Given the description of an element on the screen output the (x, y) to click on. 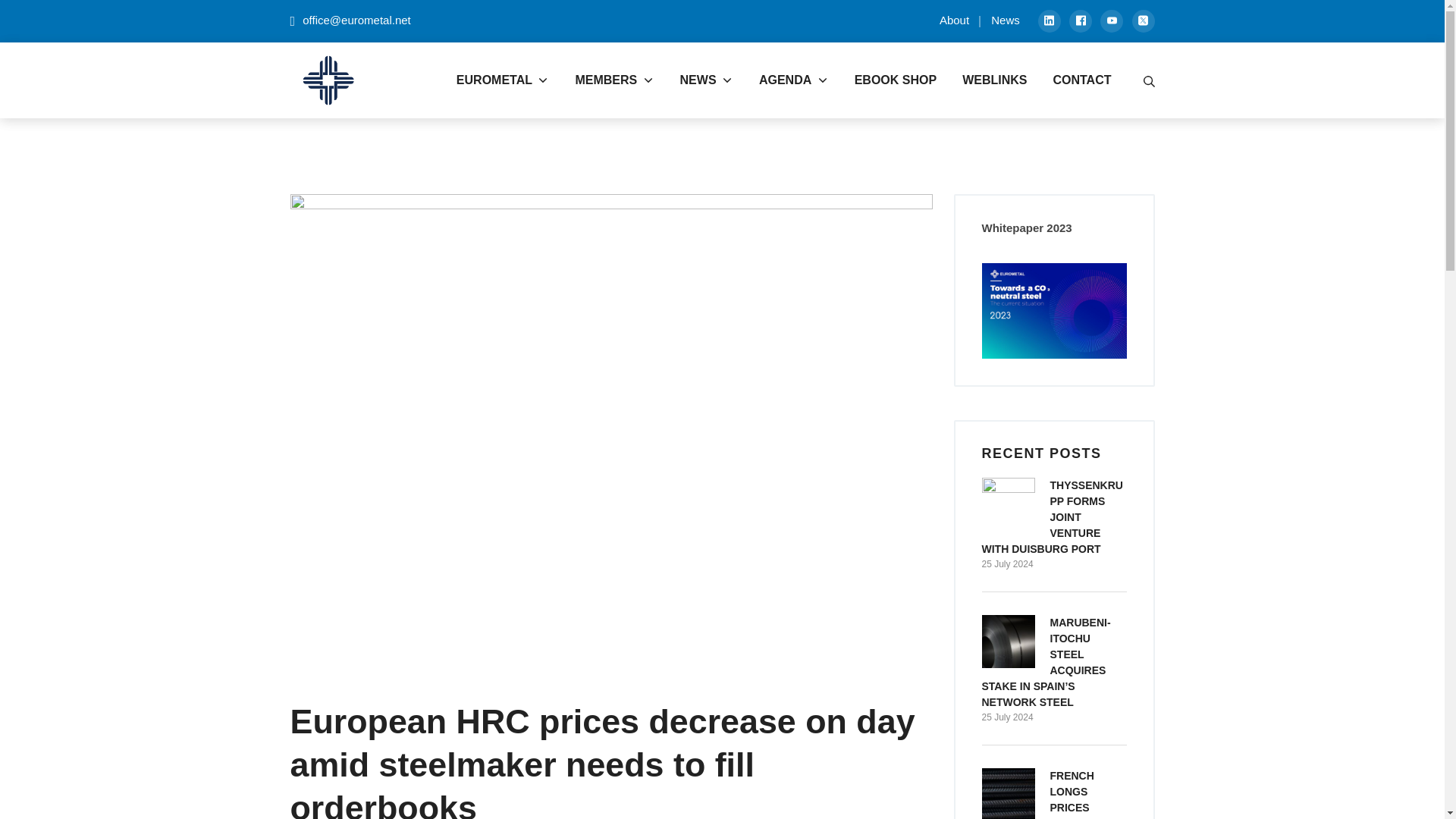
About (954, 19)
YouTube icon (1111, 20)
Facebook icon (1080, 20)
Facebook (1080, 20)
Twitter (1111, 20)
LinkedIn (1080, 20)
News (1143, 20)
LinkedIn icon (1049, 20)
Twitter (1048, 20)
Youtube (1005, 19)
